Given the description of an element on the screen output the (x, y) to click on. 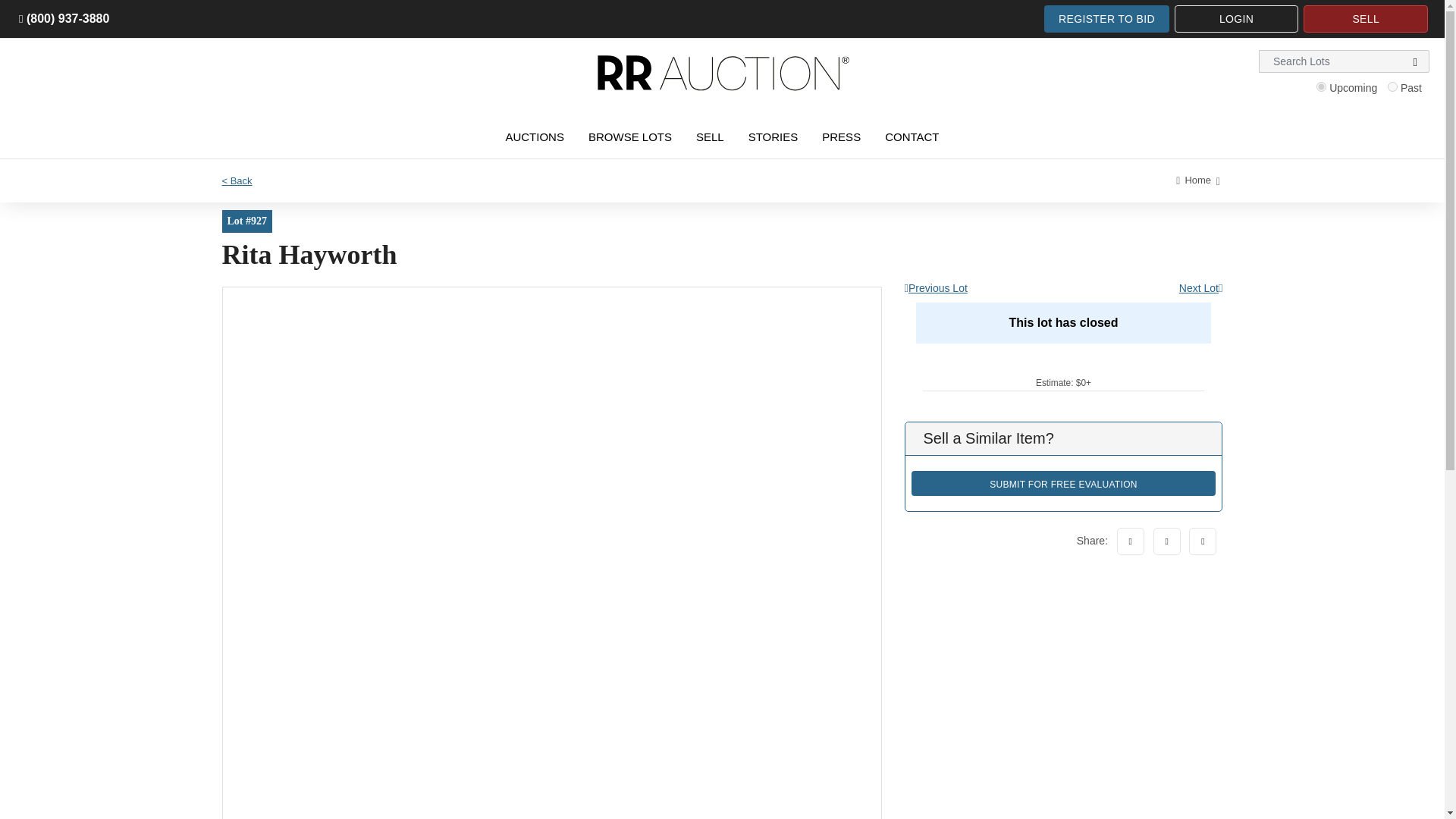
BROWSE LOTS (630, 136)
past-auctions (1392, 86)
current-auctions (1321, 86)
SELL (1365, 18)
Twitter (1166, 541)
REGISTER TO BID (1106, 18)
Facebook (1130, 541)
Instagram (1202, 541)
AUCTIONS (534, 136)
LOGIN (1236, 18)
